Given the description of an element on the screen output the (x, y) to click on. 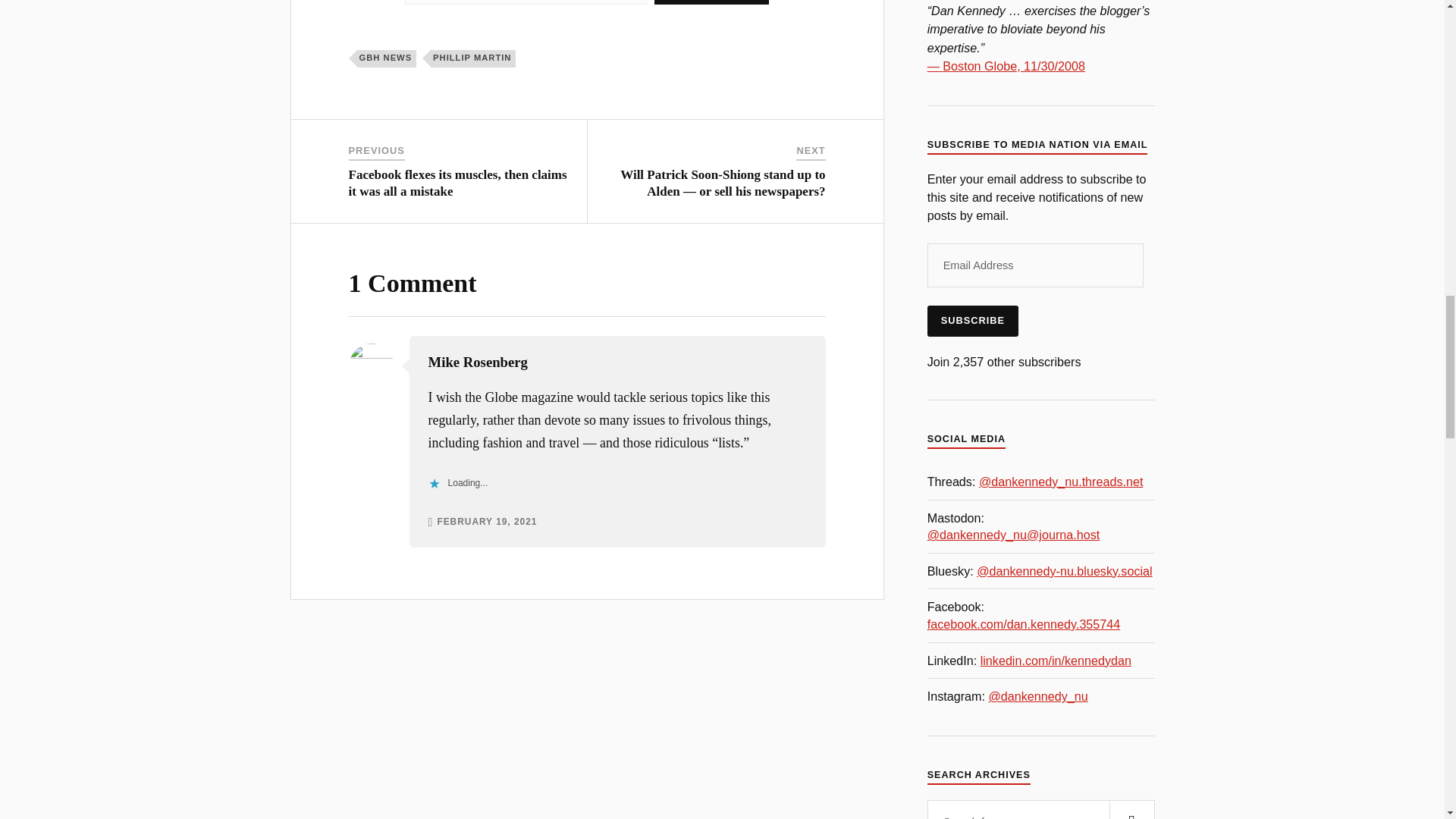
Please fill in this field. (525, 2)
